Given the description of an element on the screen output the (x, y) to click on. 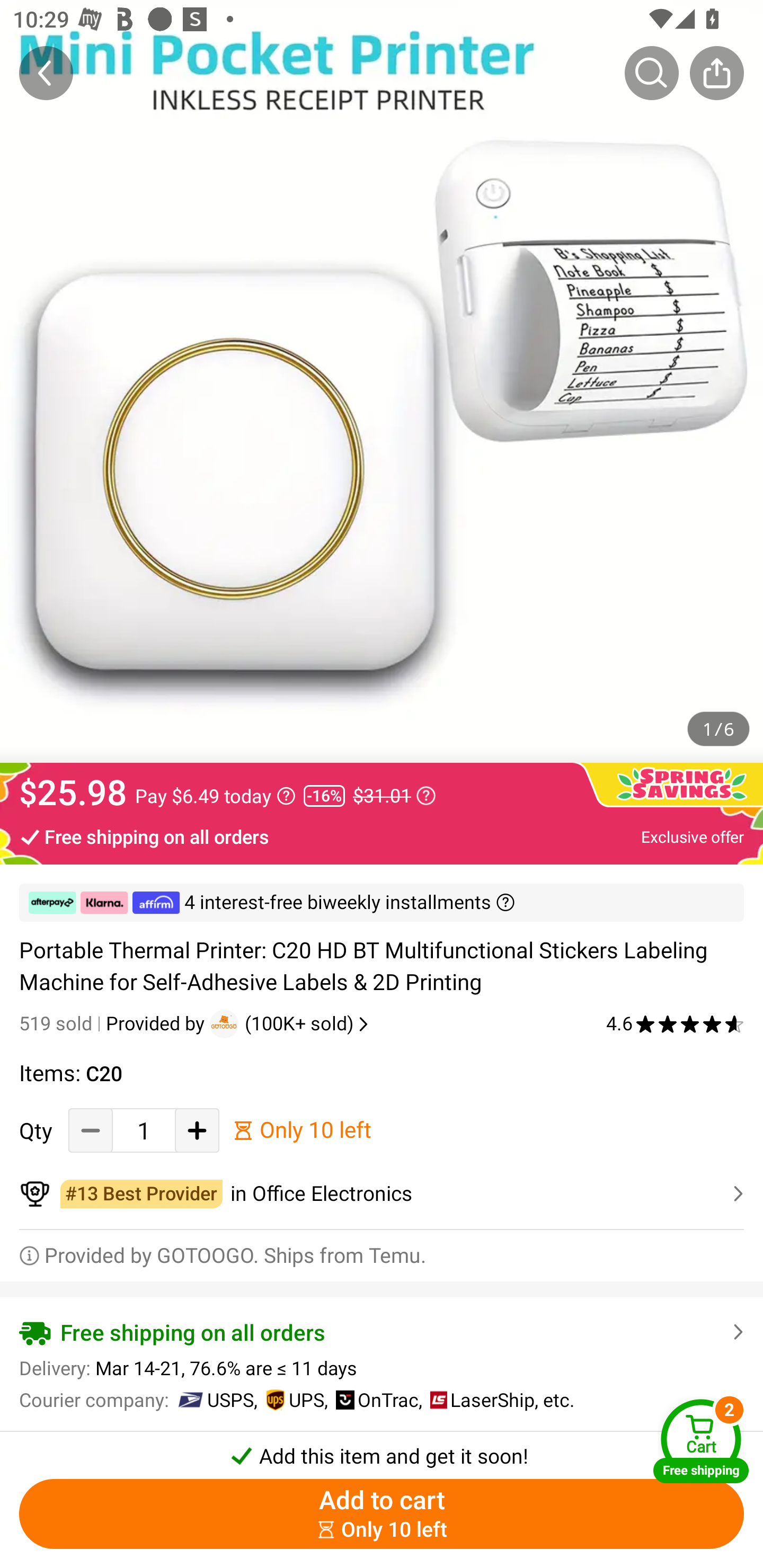
Back (46, 72)
Share (716, 72)
Pay $6.49 today   (215, 795)
Free shipping on all orders Exclusive offer (381, 836)
￼ ￼ ￼ 4 interest-free biweekly installments ￼ (381, 902)
519 sold Provided by  (114, 1023)
4.6 (674, 1023)
Decrease Quantity Button (90, 1130)
1 (143, 1130)
Add Quantity button (196, 1130)
￼￼in Office Electronics (381, 1193)
Cart Free shipping Cart (701, 1440)
￼￼Add this item and get it soon!  (381, 1450)
Add to cart ￼￼Only 10 left (381, 1513)
